Given the description of an element on the screen output the (x, y) to click on. 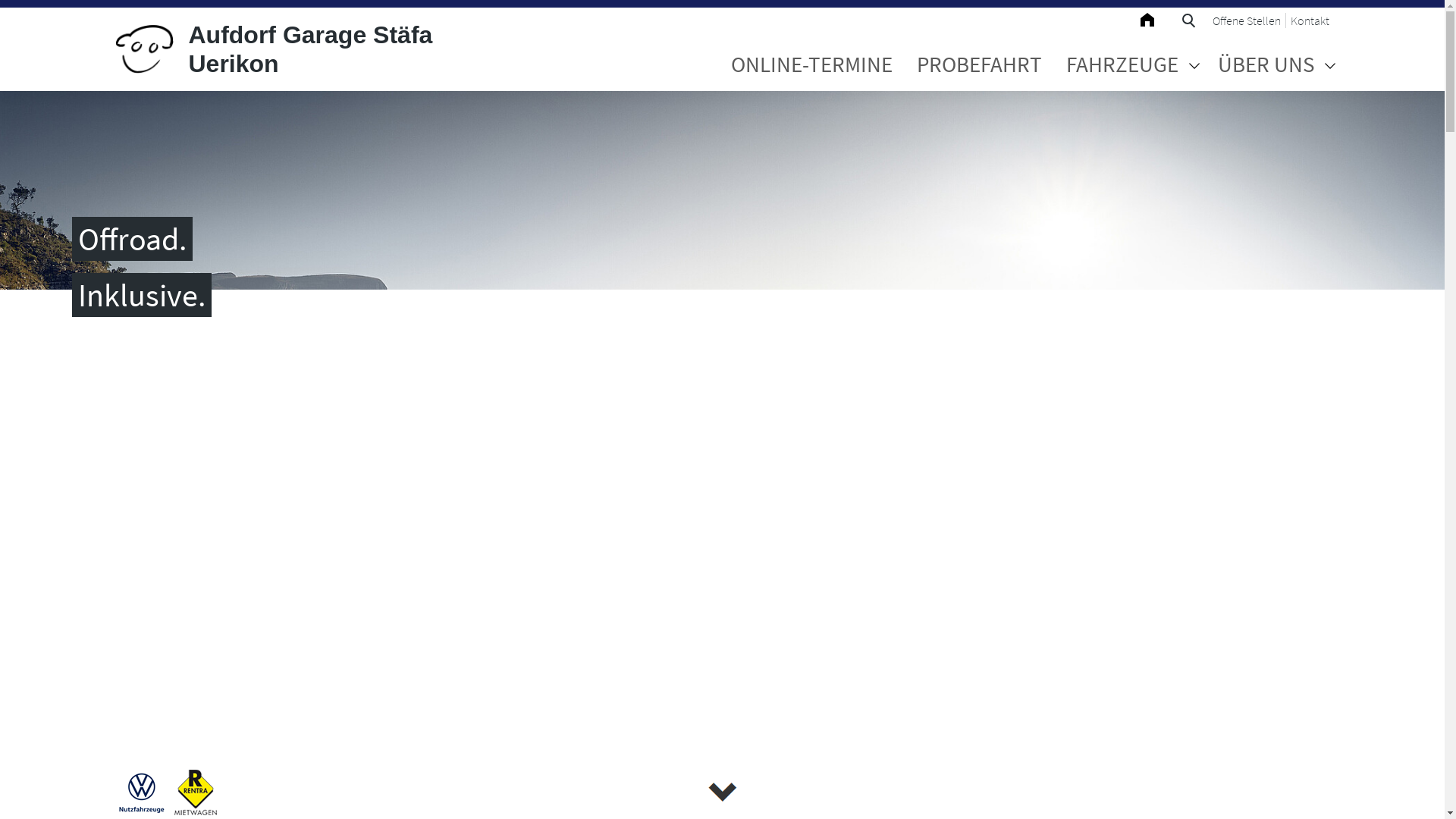
FAHRZEUGE Element type: text (1122, 64)
nach unten Element type: hover (721, 792)
Offene Stellen Element type: text (1245, 20)
ONLINE-TERMINE Element type: text (811, 64)
Kontakt Element type: text (1309, 20)
PROBEFAHRT Element type: text (978, 64)
